Given the description of an element on the screen output the (x, y) to click on. 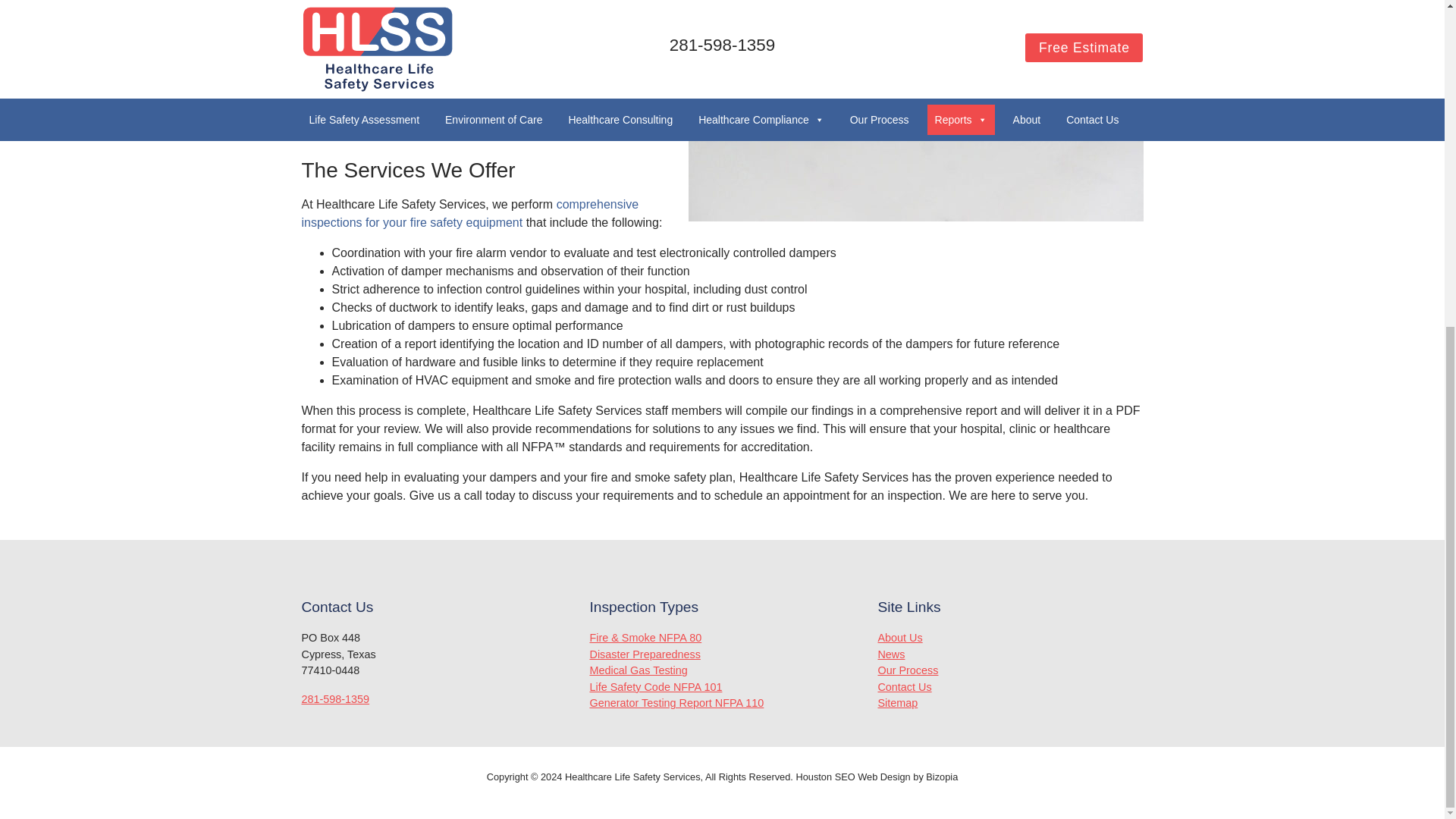
Our Process (907, 670)
About Us (899, 637)
Generator Testing Report NFPA 110 (675, 702)
Disaster Preparedness (644, 654)
Life Safety Code NFPA 101 (655, 686)
News (890, 654)
Medical Gas Testing (638, 670)
281-598-1359 (335, 698)
comprehensive inspections for your fire safety equipment (470, 213)
Contact Us (904, 686)
Sitemap (897, 702)
